Given the description of an element on the screen output the (x, y) to click on. 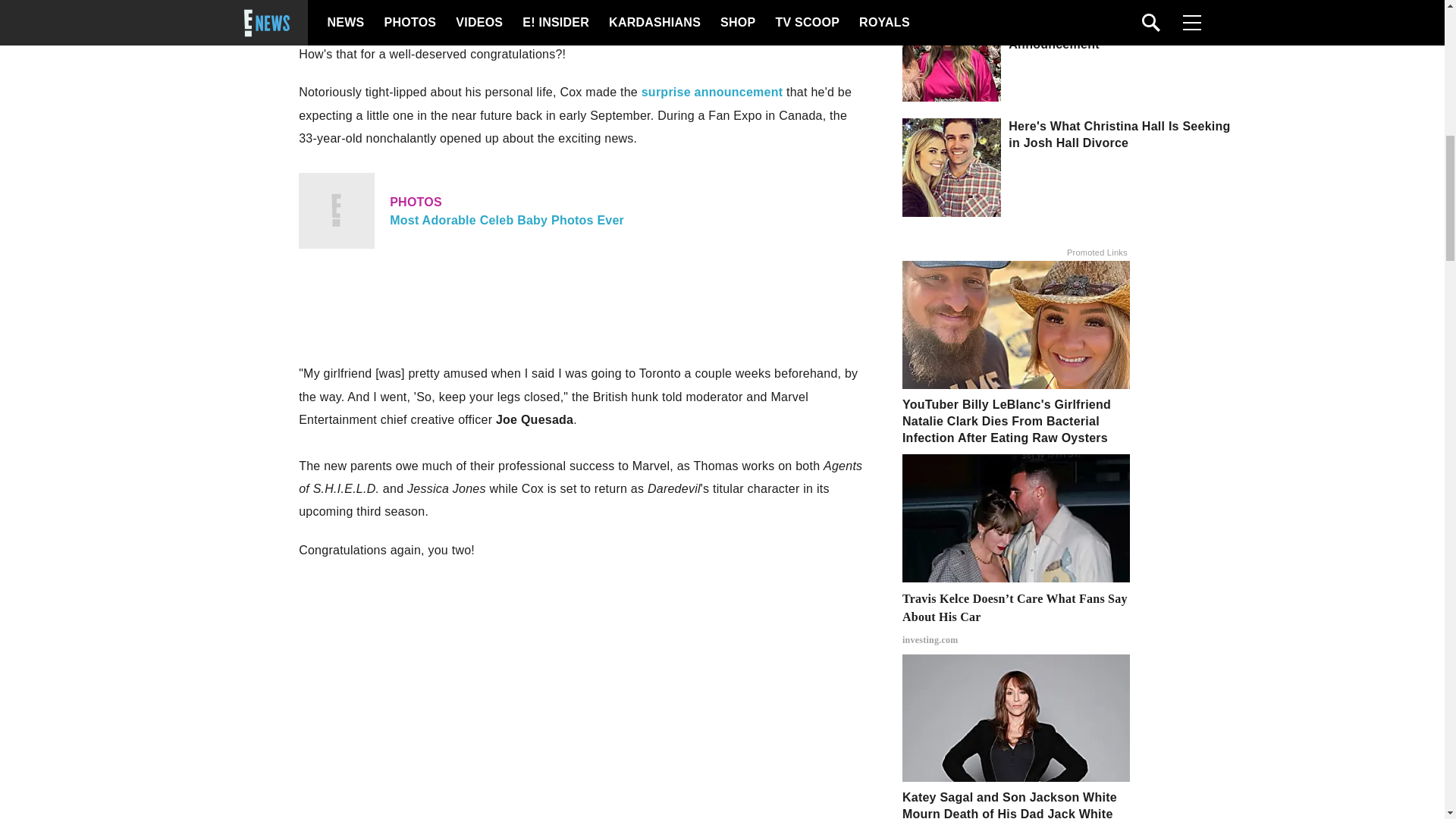
surprise announcement (581, 210)
Here's What Christina Hall Is Seeking in Josh Hall Divorce (712, 91)
